Given the description of an element on the screen output the (x, y) to click on. 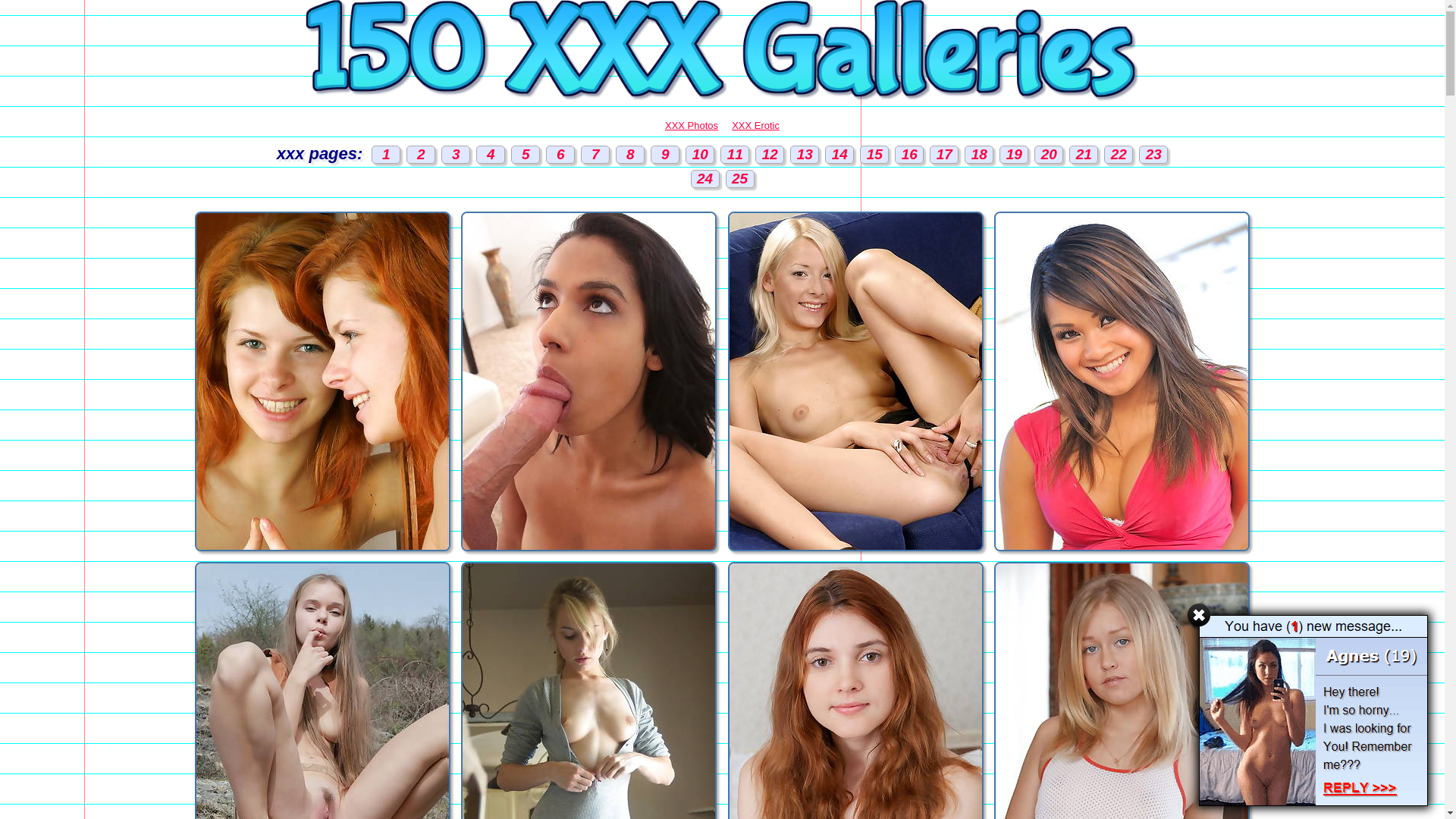
21 Element type: text (1083, 154)
15 Element type: text (873, 154)
16 Element type: text (908, 154)
4 Element type: text (490, 154)
11 Element type: text (734, 154)
9 Element type: text (664, 154)
1 Element type: text (385, 154)
7 Element type: text (594, 154)
3 Element type: text (455, 154)
# Element type: hover (1198, 614)
2 Element type: text (420, 154)
6 Element type: text (560, 154)
8 Element type: text (629, 154)
10 Element type: text (699, 154)
XXX Erotic Element type: text (755, 125)
5 Element type: text (525, 154)
14 Element type: text (839, 154)
19 Element type: text (1013, 154)
23 Element type: text (1153, 154)
18 Element type: text (978, 154)
13 Element type: text (804, 154)
17 Element type: text (943, 154)
12 Element type: text (769, 154)
25 Element type: text (738, 178)
20 Element type: text (1048, 154)
24 Element type: text (704, 178)
XXX Photos Element type: text (691, 125)
22 Element type: text (1118, 154)
